Given the description of an element on the screen output the (x, y) to click on. 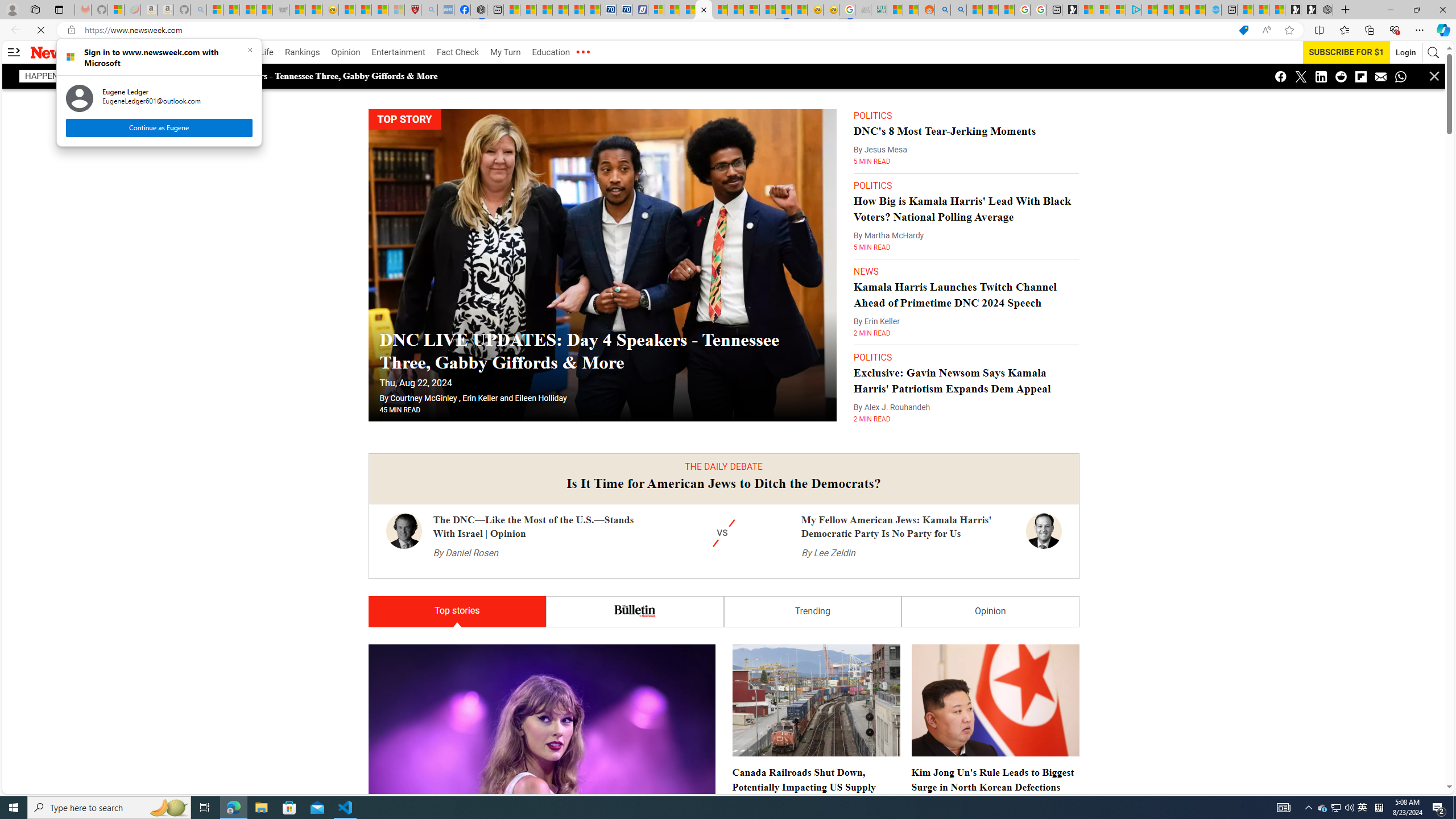
POLITICS (872, 334)
Recipes - MSN (346, 9)
Newsweek - News, Analysis, Politics, Business, Technology (703, 9)
Utah sues federal government - Search (958, 9)
AutomationID: moreOptions (582, 51)
Education (550, 52)
Start (13, 807)
Tray Input Indicator - Chinese (Simplified, China) (1378, 807)
Class: icon-whatsapp (1400, 75)
14 Common Myths Debunked By Scientific Facts (719, 9)
